Given the description of an element on the screen output the (x, y) to click on. 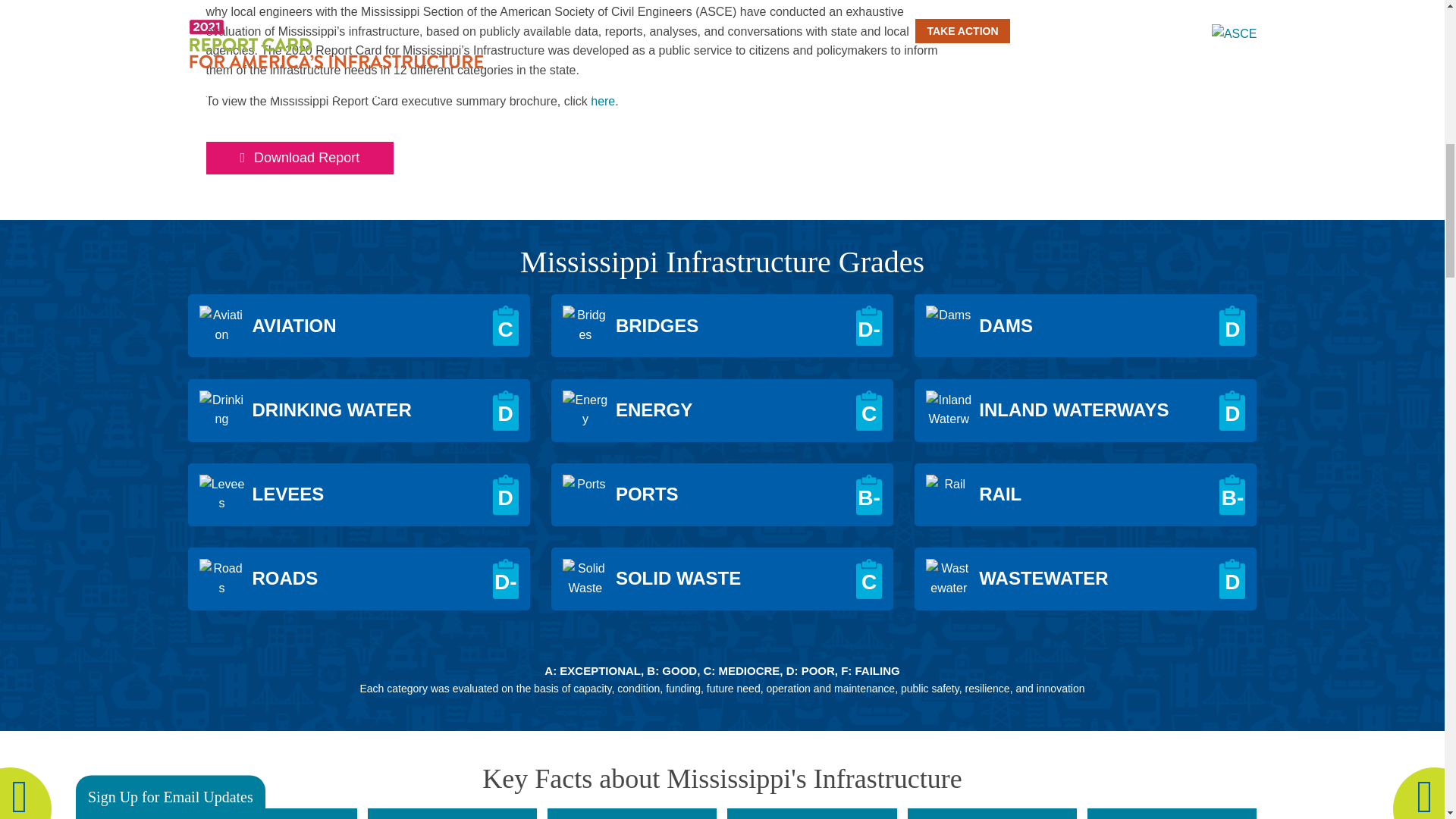
Submit (136, 493)
No (92, 385)
Yes (92, 361)
